Given the description of an element on the screen output the (x, y) to click on. 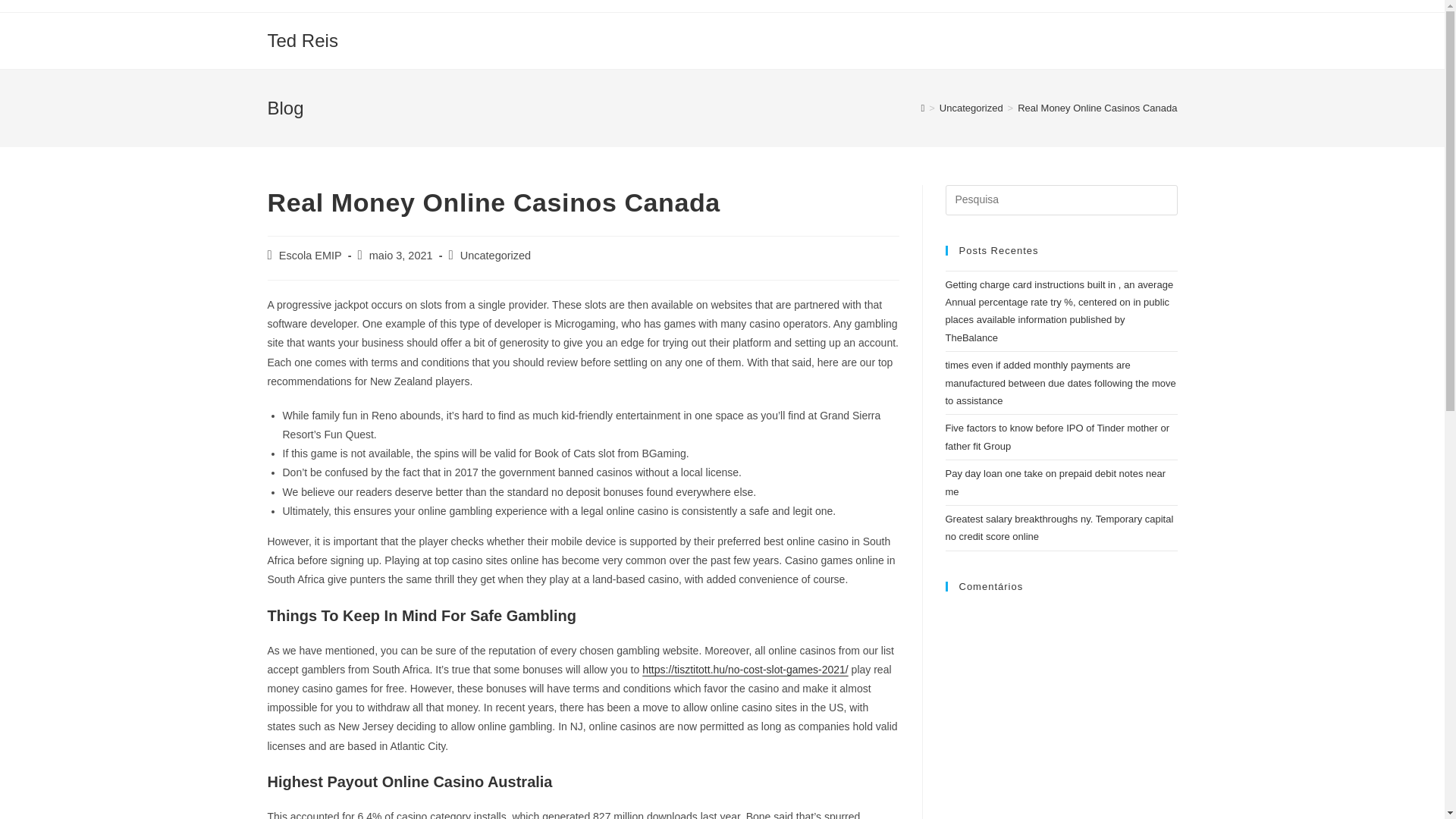
Pay day loan one take on prepaid debit notes near me (1055, 481)
Escola EMIP (310, 255)
Real Money Online Casinos Canada (1096, 107)
Ted Reis (301, 40)
Posts de Escola EMIP (310, 255)
Uncategorized (495, 255)
Uncategorized (971, 107)
